Given the description of an element on the screen output the (x, y) to click on. 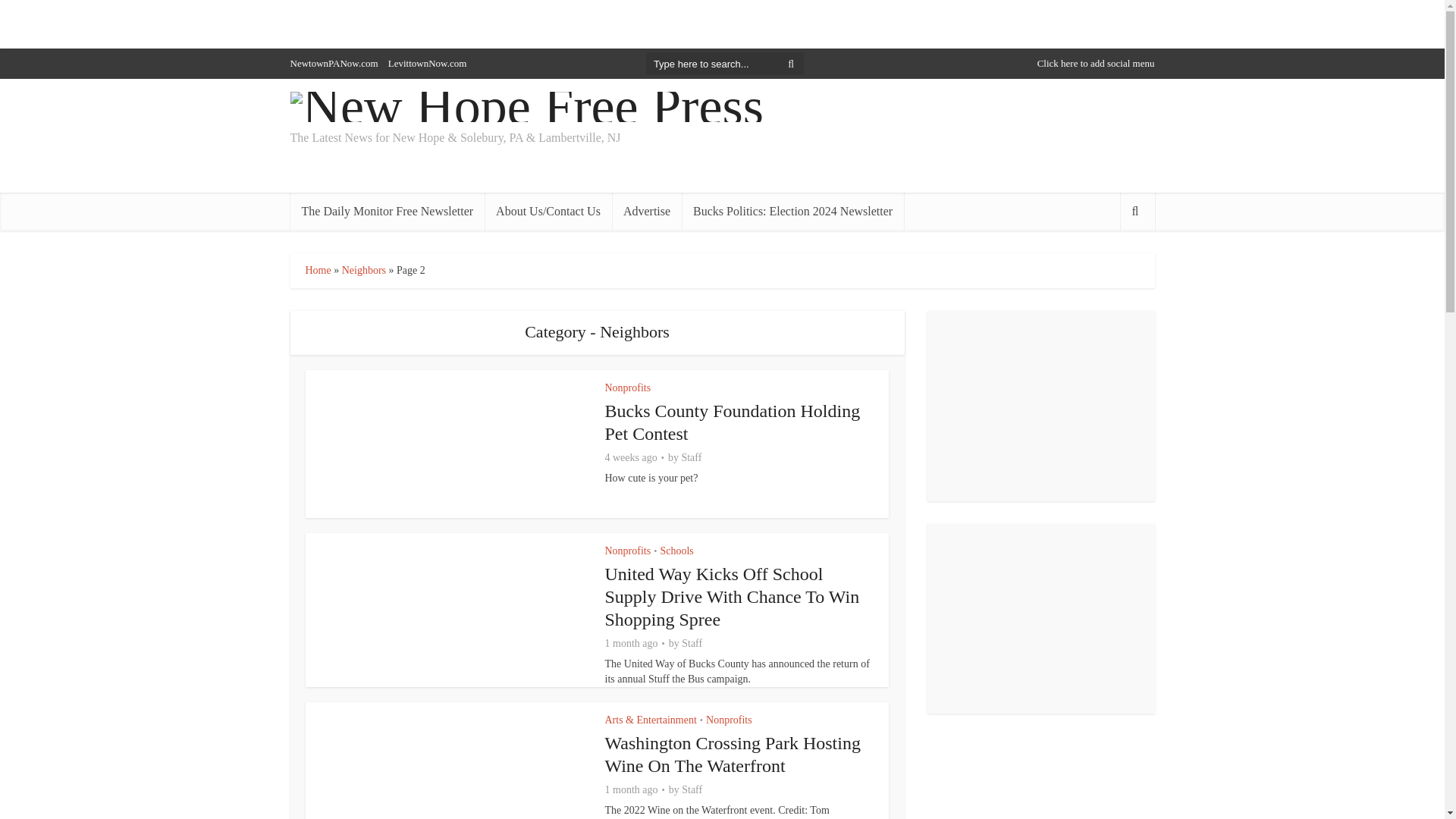
Type here to search... (724, 63)
Staff (691, 643)
Washington Crossing Park Hosting Wine On The Waterfront (732, 754)
Nonprofits (627, 550)
LevittownNow.com (427, 62)
Staff (691, 458)
Bucks County Foundation Holding Pet Contest (732, 422)
The Daily Monitor Free Newsletter (386, 211)
